Given the description of an element on the screen output the (x, y) to click on. 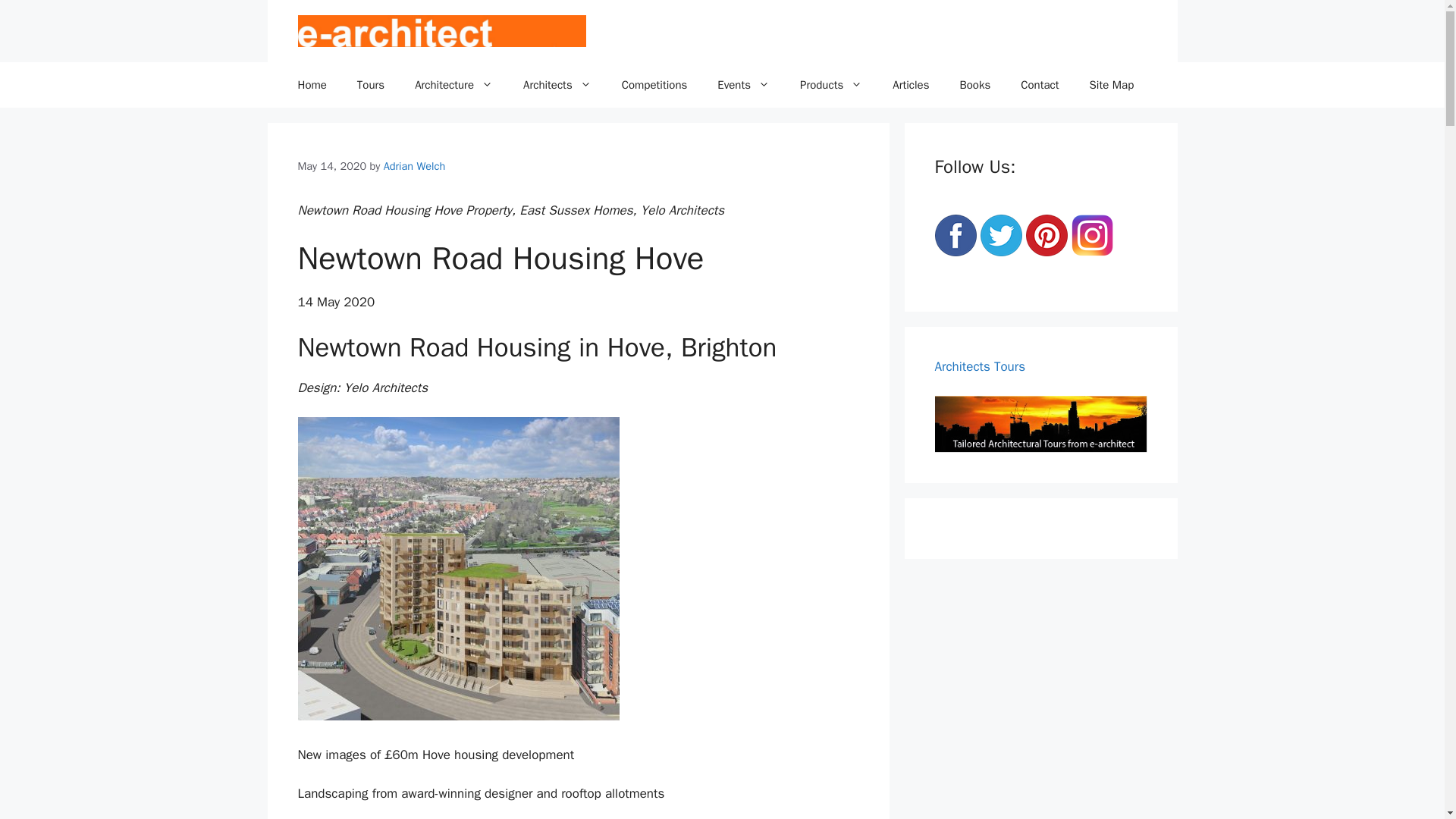
Site Map (1112, 84)
Events (742, 84)
Home (311, 84)
Home (311, 84)
Competitions (655, 84)
Articles (910, 84)
facebook (954, 235)
View all posts by Adrian Welch (414, 165)
Architecture (453, 84)
Books (974, 84)
